Given the description of an element on the screen output the (x, y) to click on. 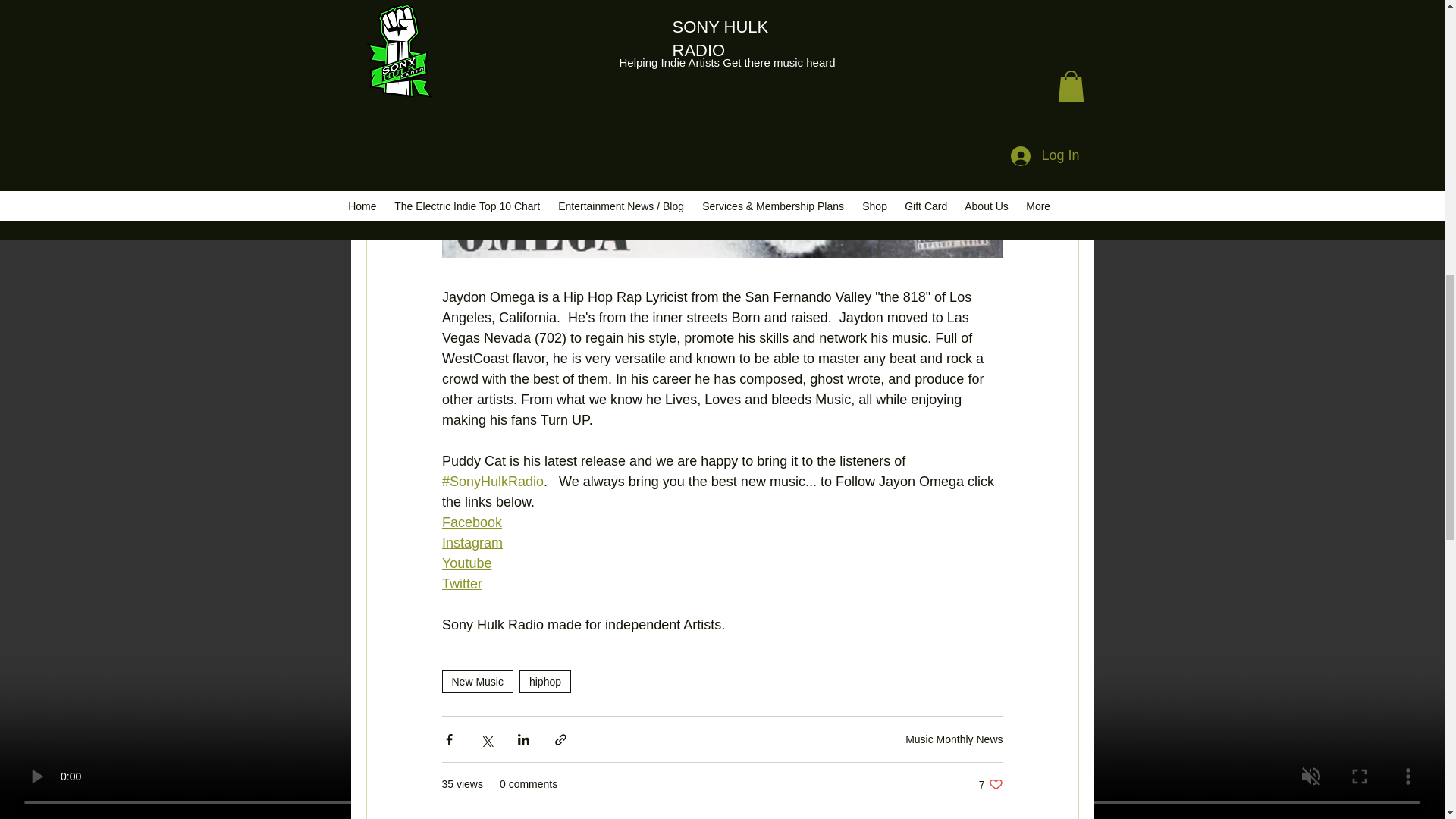
Music Monthly News (954, 739)
New Music (476, 681)
Facebook (470, 522)
Instagram (471, 542)
hiphop (544, 681)
Twitter (990, 784)
Youtube (461, 583)
